Given the description of an element on the screen output the (x, y) to click on. 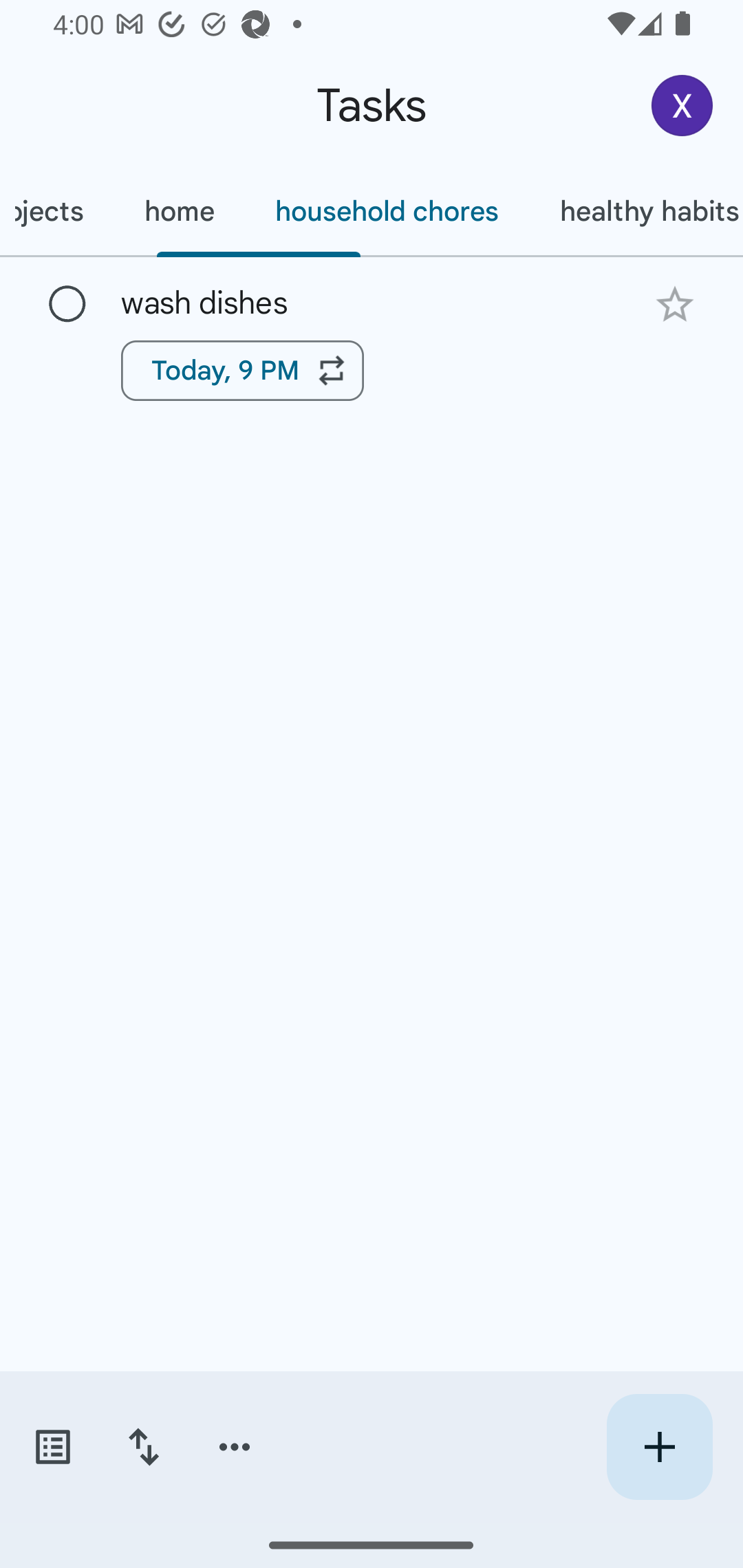
projects (56, 211)
home (178, 211)
healthy habits (636, 211)
Add star (674, 303)
Mark as complete (67, 304)
Today, 9 PM (242, 369)
Switch task lists (52, 1447)
Create new task (659, 1446)
Change sort order (143, 1446)
More options (234, 1446)
